Given the description of an element on the screen output the (x, y) to click on. 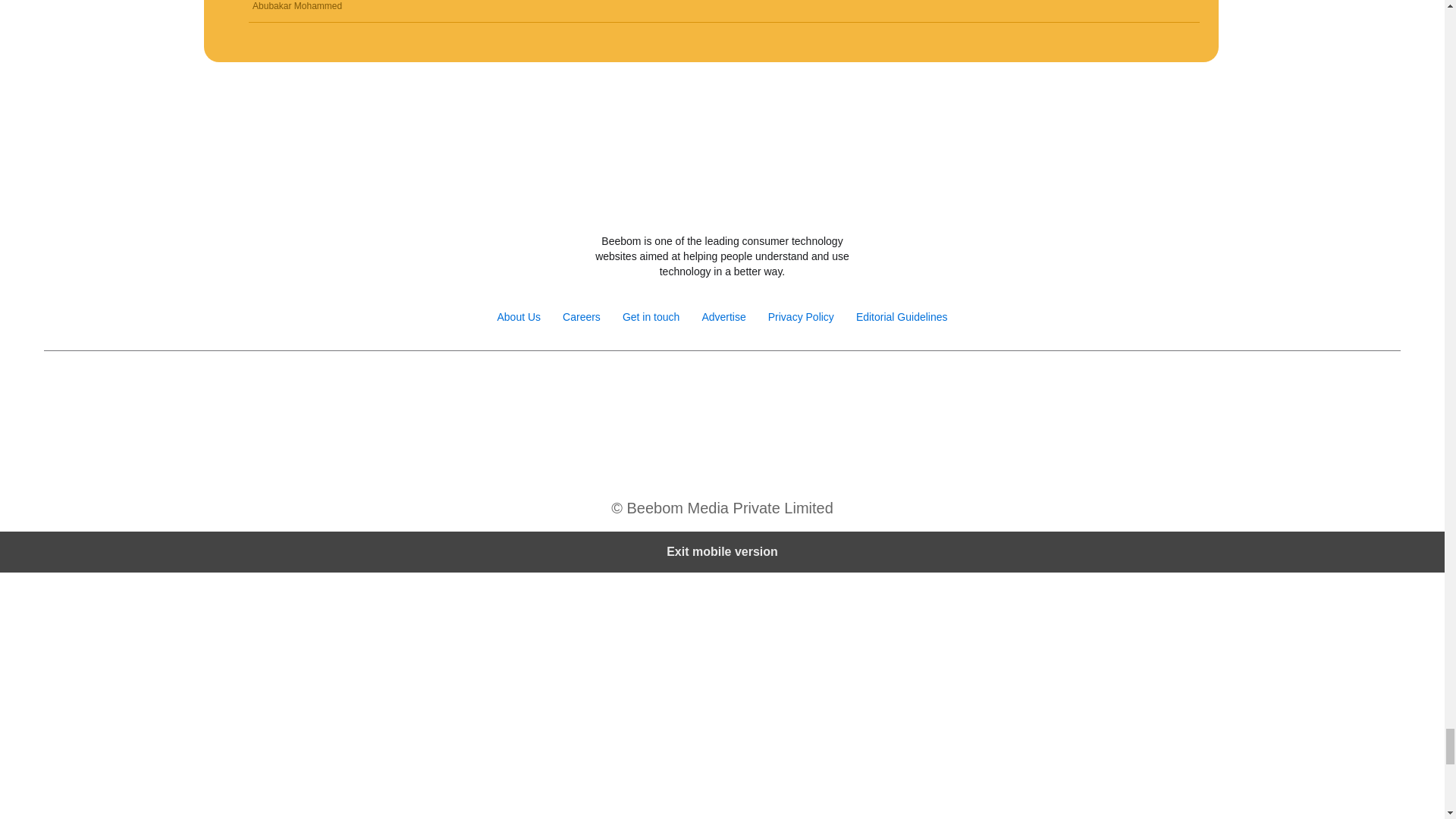
Facebook (640, 389)
Beebom (721, 200)
Instagram (672, 389)
